Given the description of an element on the screen output the (x, y) to click on. 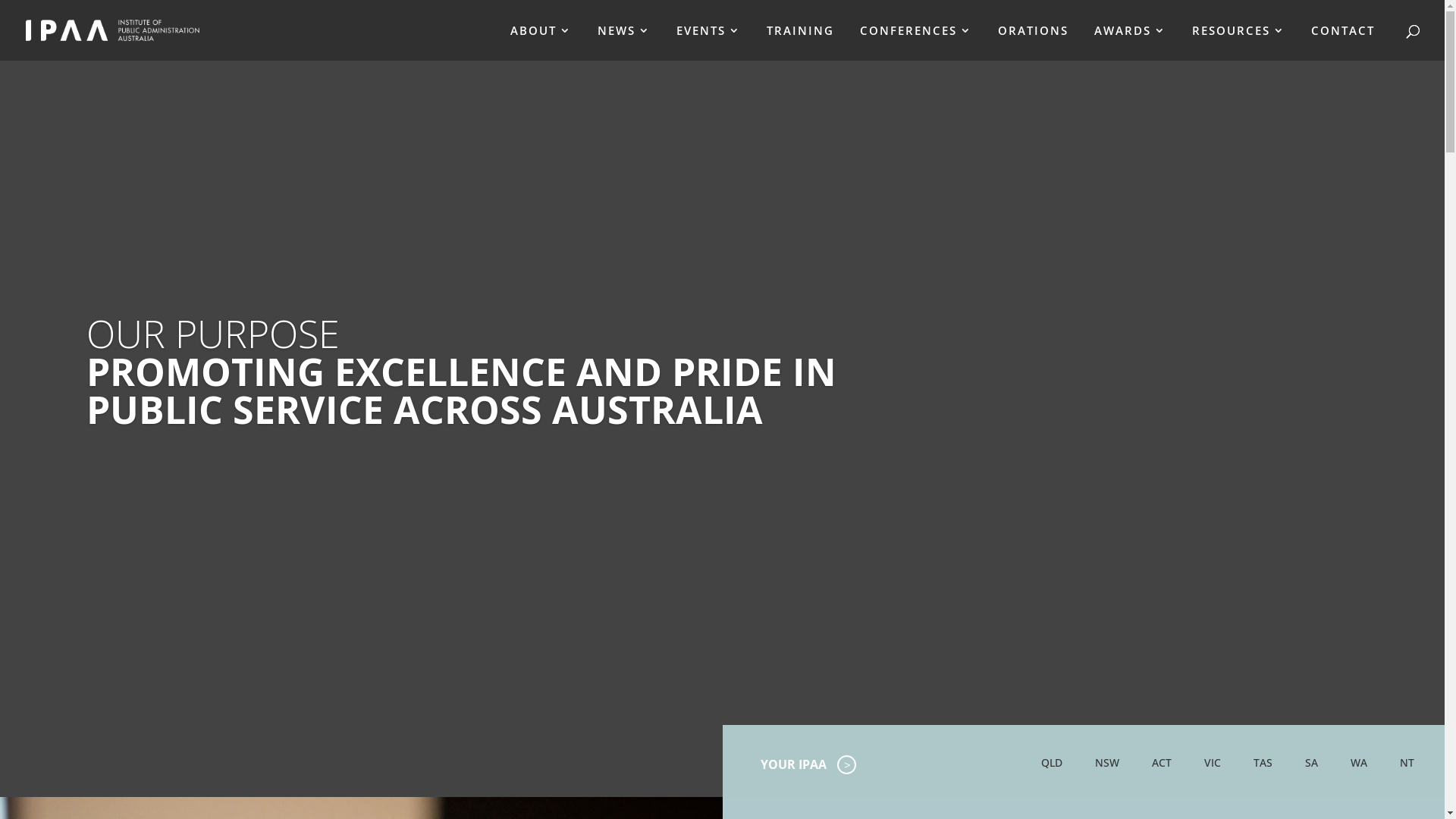
TRAINING Element type: text (800, 42)
VIC Element type: text (1212, 762)
CONTACT Element type: text (1342, 42)
CONFERENCES Element type: text (915, 42)
RESOURCES Element type: text (1238, 42)
ABOUT Element type: text (540, 42)
ORATIONS Element type: text (1032, 42)
AWARDS Element type: text (1130, 42)
NEWS Element type: text (623, 42)
SA Element type: text (1311, 762)
NSW Element type: text (1107, 762)
EVENTS Element type: text (708, 42)
ACT Element type: text (1161, 762)
QLD Element type: text (1051, 762)
TAS Element type: text (1262, 762)
NT Element type: text (1406, 762)
WA Element type: text (1358, 762)
